Given the description of an element on the screen output the (x, y) to click on. 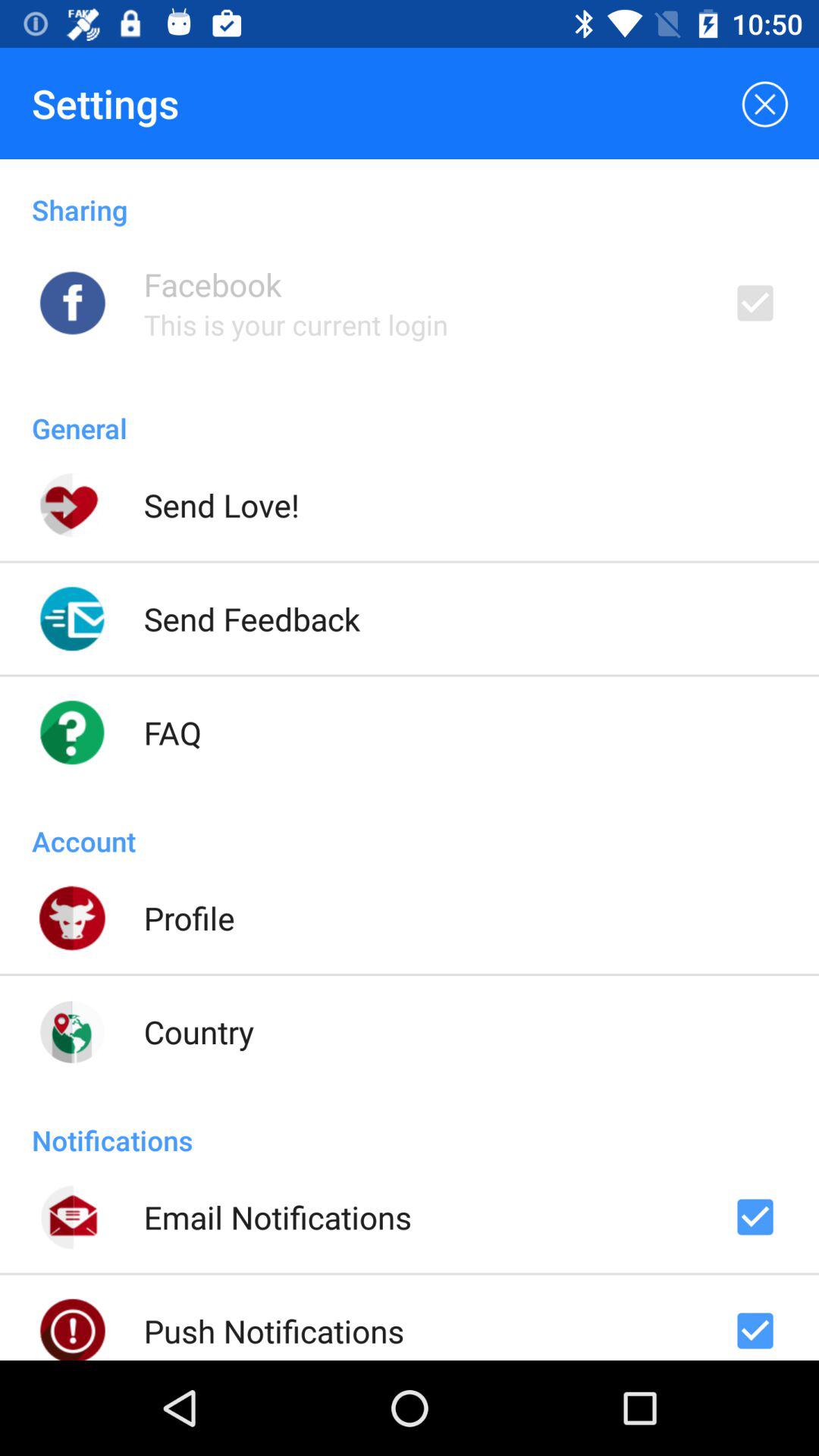
open send feedback item (251, 618)
